Given the description of an element on the screen output the (x, y) to click on. 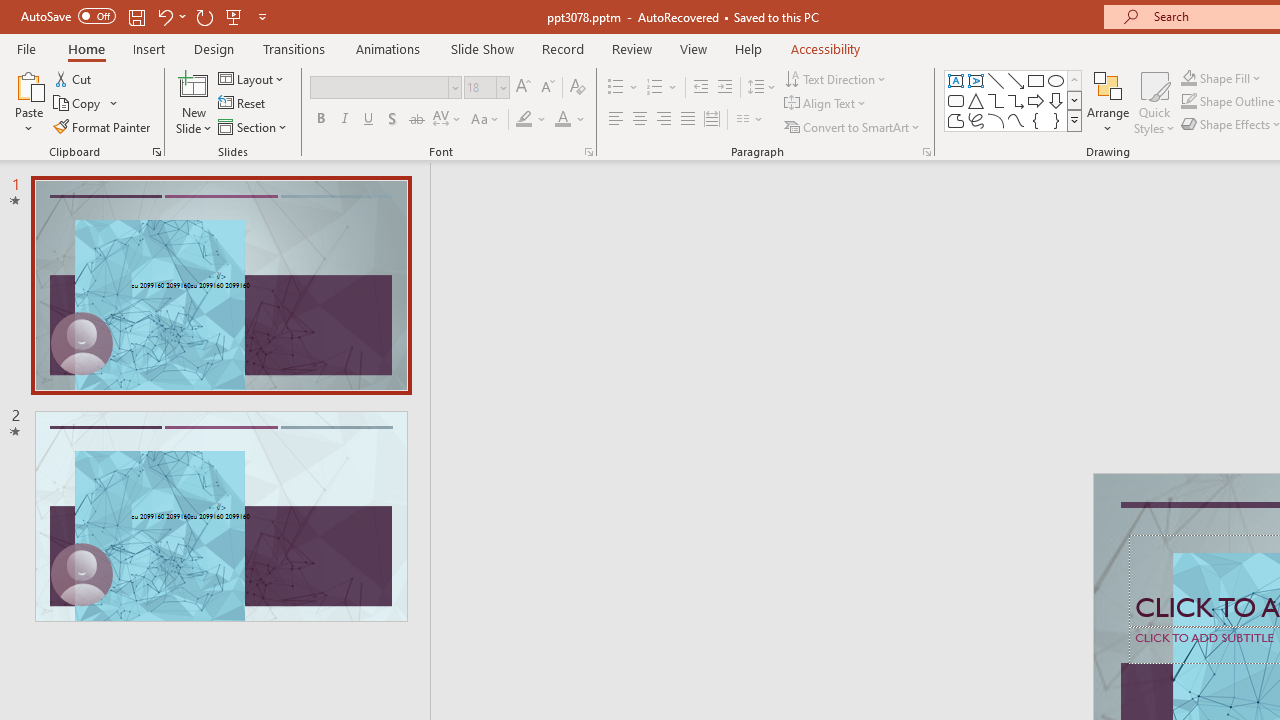
Arrow: Down (1055, 100)
Italic (344, 119)
Freeform: Shape (955, 120)
Curve (1016, 120)
Font... (588, 151)
Strikethrough (416, 119)
Change Case (486, 119)
